Given the description of an element on the screen output the (x, y) to click on. 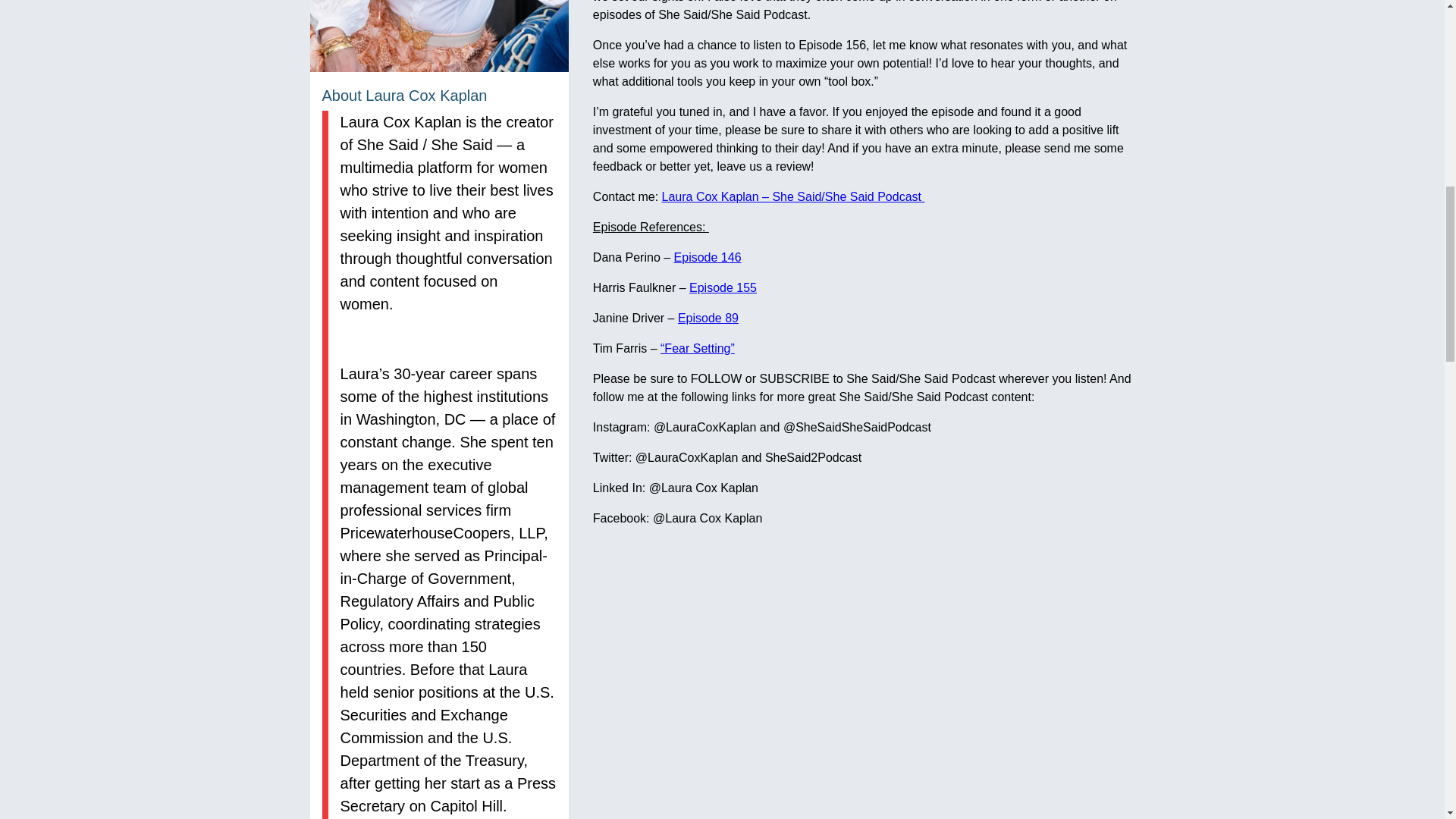
Episode 155 (722, 287)
Episode 146 (707, 256)
Episode 89 (708, 318)
